Given the description of an element on the screen output the (x, y) to click on. 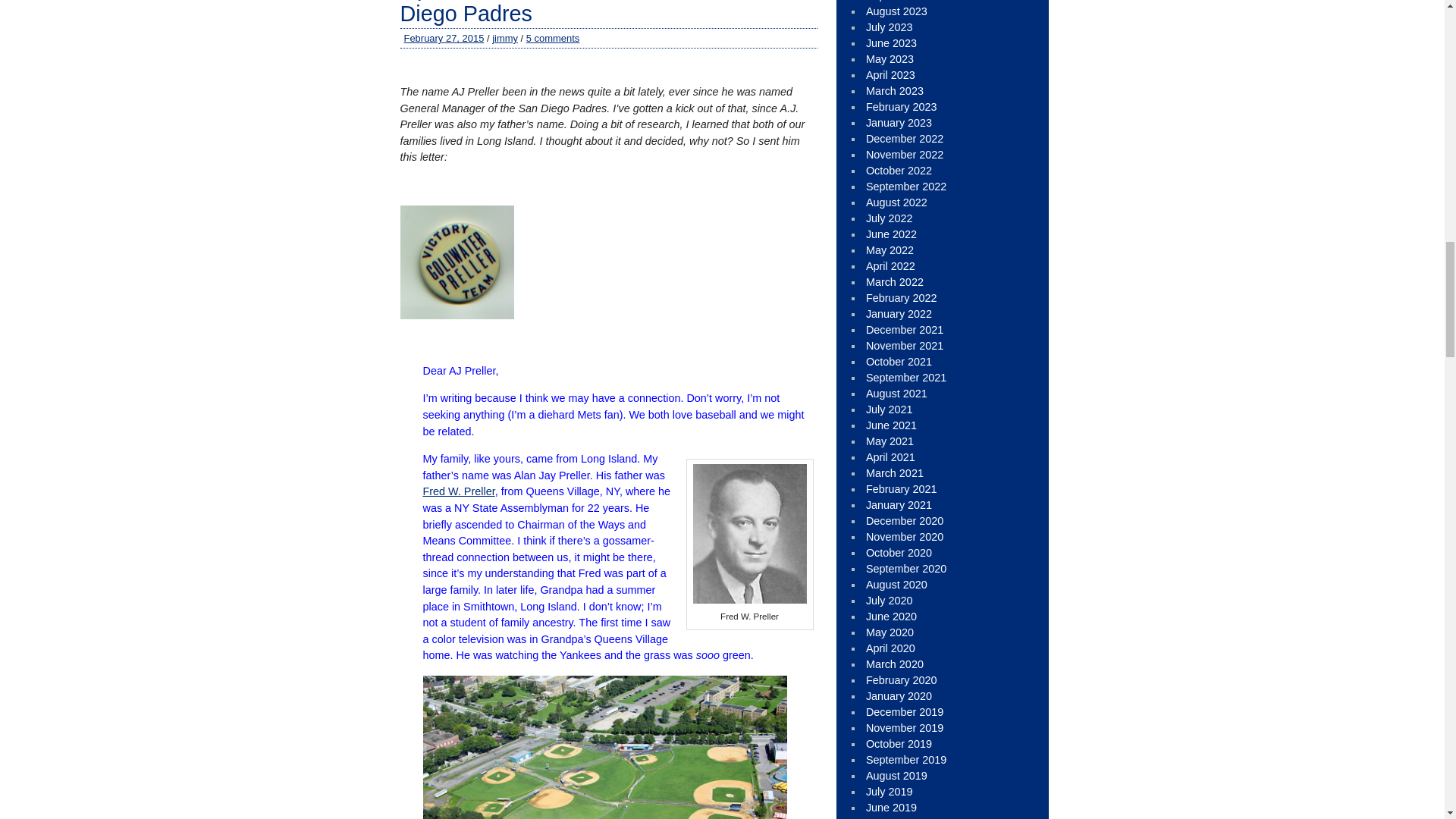
February 27, 2015 (443, 38)
Posts by jimmy (505, 38)
jimmy (505, 38)
Open Letter to AJ Preller, GM of the San Diego Padres (595, 12)
5 comments (552, 38)
